Given the description of an element on the screen output the (x, y) to click on. 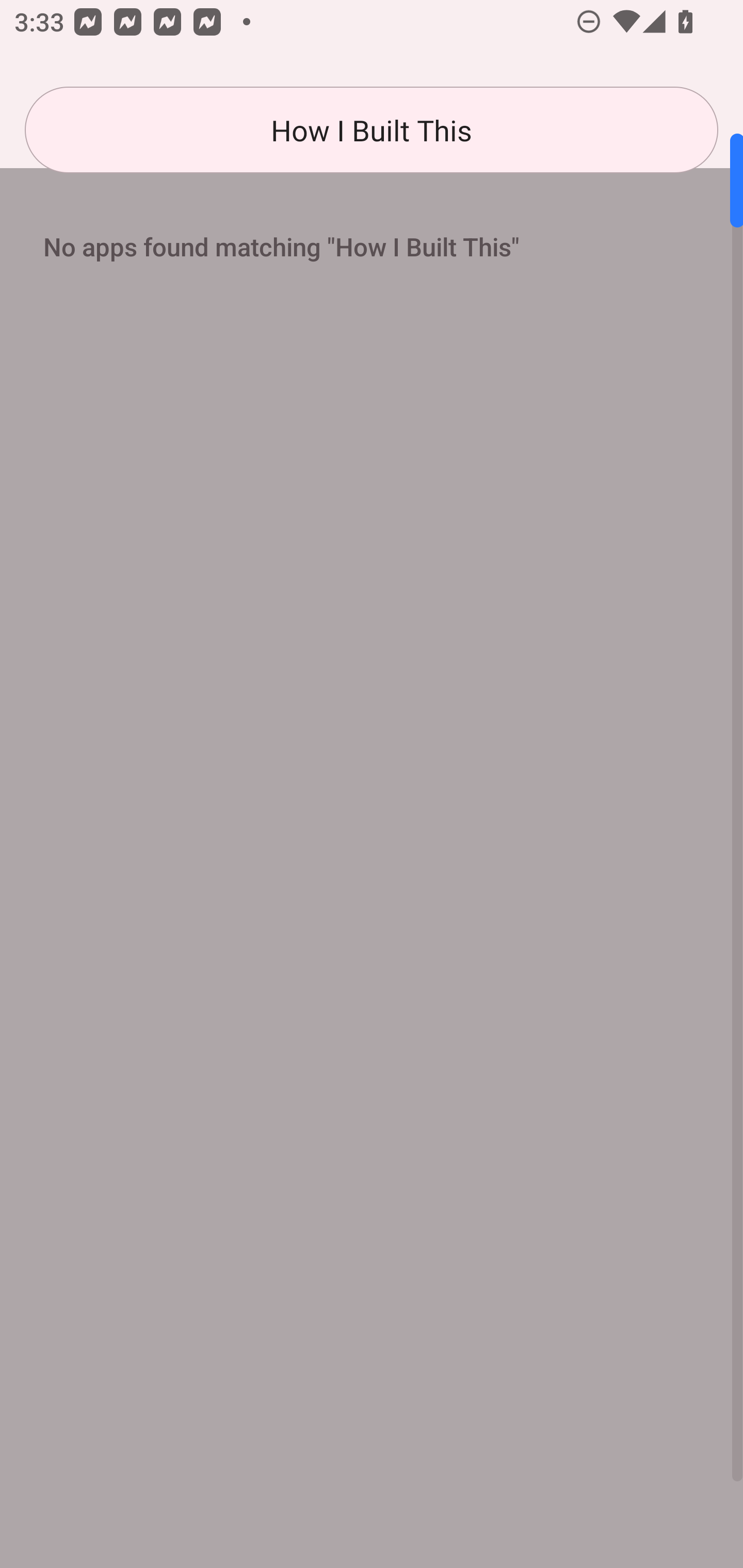
How I Built This (371, 130)
